Given the description of an element on the screen output the (x, y) to click on. 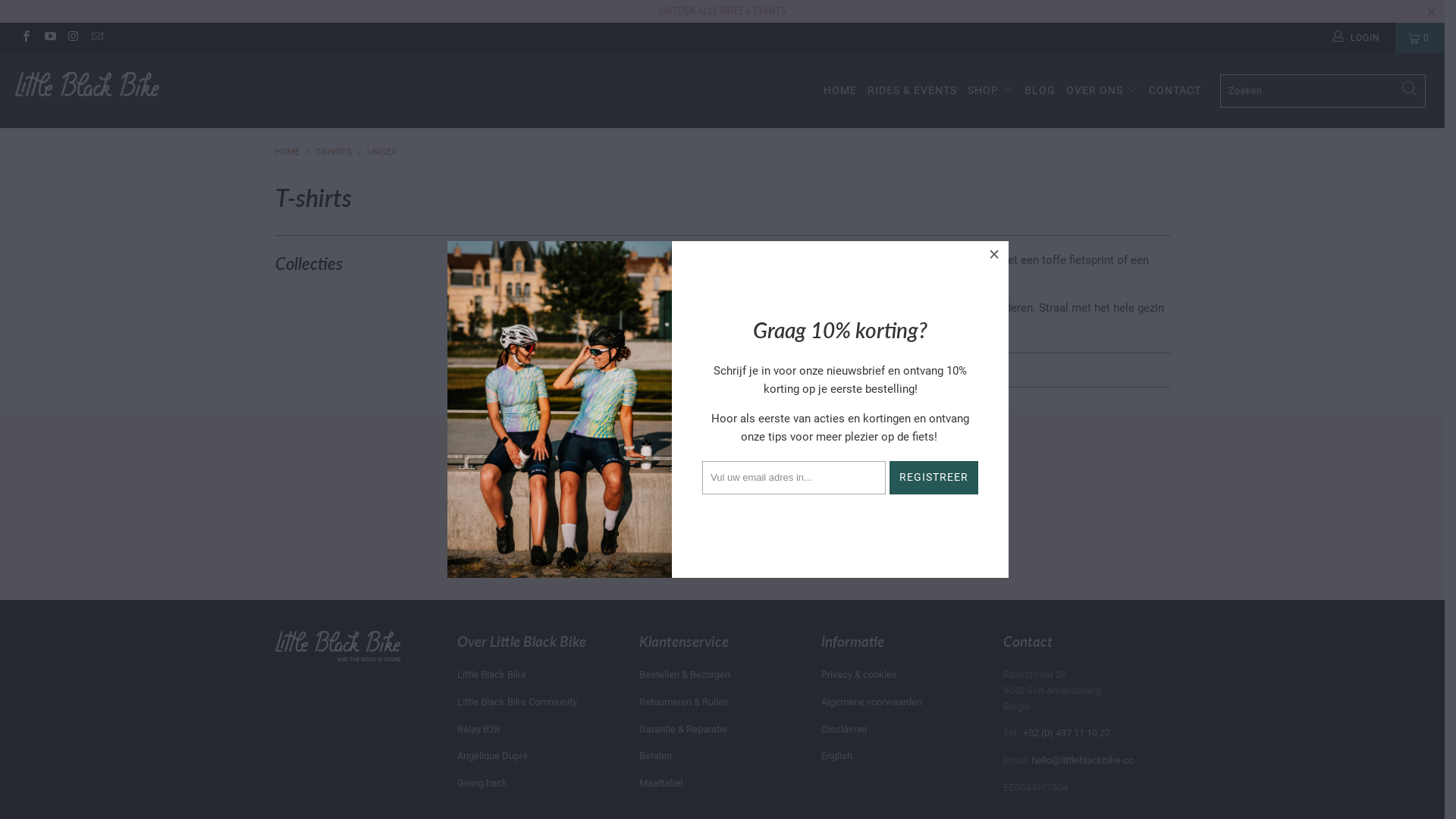
RIDES & EVENTS Element type: text (912, 90)
Betalen Element type: text (654, 755)
Privacy & cookies Element type: text (858, 674)
+32 (0) 497 11 10 27 Element type: text (1065, 732)
Garantie & Reparatie Element type: text (682, 728)
Disclaimer Element type: text (843, 728)
CONTACT Element type: text (1174, 90)
Little Black Bike Element type: hover (123, 85)
Relay B2B Element type: text (477, 728)
BLOG Element type: text (1039, 90)
Email Little Black Bike Element type: hover (96, 37)
Retourneren & Ruilen Element type: text (683, 701)
hello@littleblackbike.cc Element type: text (1082, 759)
ONTDEK ALLE RIDES & EVENTS Element type: text (721, 10)
Giving back Element type: text (481, 782)
SHOP Element type: text (990, 90)
LOGIN Element type: text (1356, 37)
Little Black Bike Community Element type: text (516, 701)
Maattabel Element type: text (659, 782)
Little Black Bike on Facebook Element type: hover (24, 37)
0 Element type: text (1419, 37)
UNISEX Element type: text (381, 151)
T-SHIRTS Element type: text (333, 151)
Little Black Bike on YouTube Element type: hover (48, 37)
Bestellen & Bezorgen Element type: text (683, 674)
Registreer Element type: text (842, 548)
Close Element type: hover (994, 254)
OVER ONS Element type: text (1102, 90)
HOME Element type: text (839, 90)
Registreer Element type: text (933, 477)
Little Black Bike on Instagram Element type: hover (72, 37)
English Element type: text (835, 755)
HOME Element type: text (286, 151)
Little Black Bike Element type: text (490, 674)
Algemene voorwaarden Element type: text (870, 701)
